Given the description of an element on the screen output the (x, y) to click on. 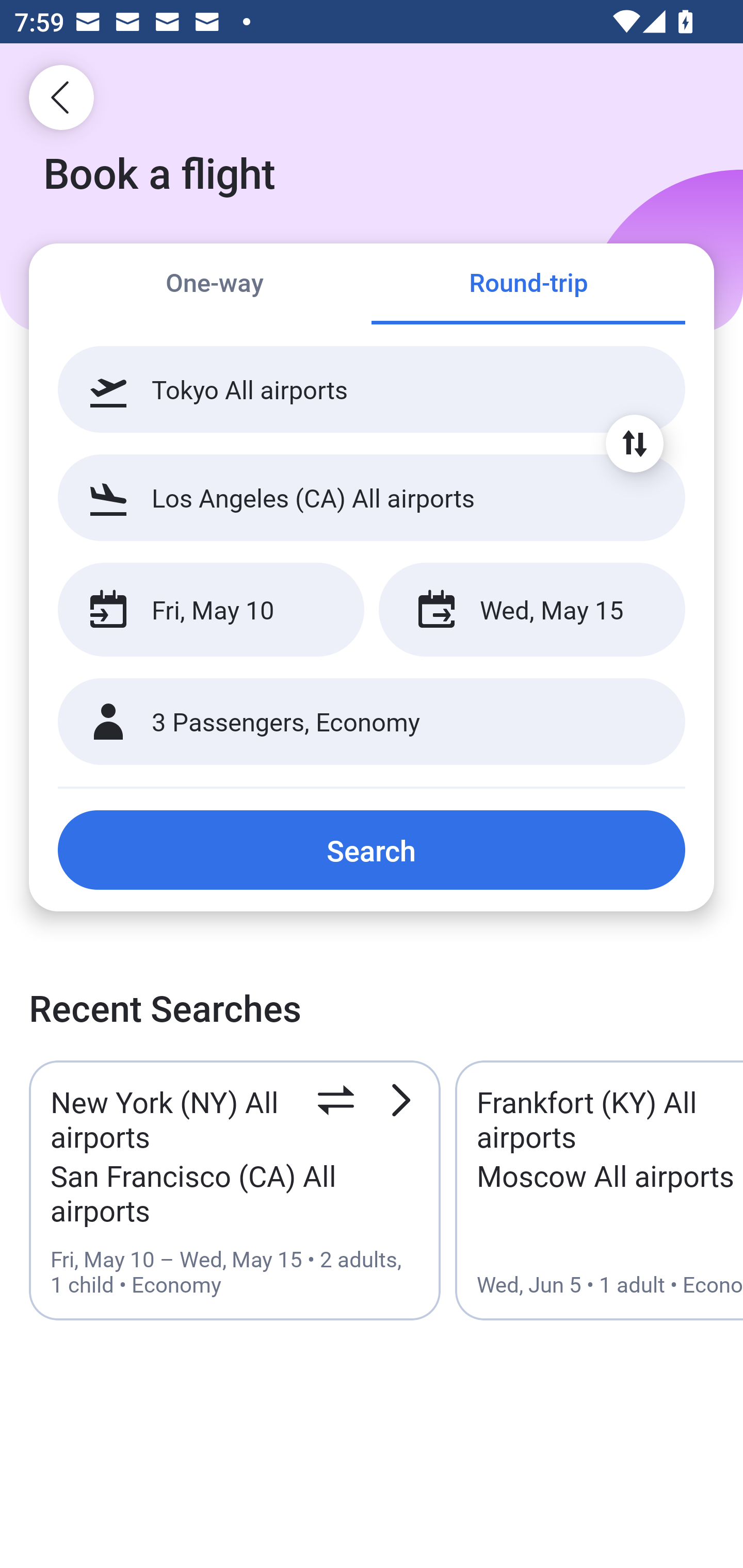
One-way (214, 284)
Tokyo All airports (371, 389)
Los Angeles (CA) All airports (371, 497)
Fri, May 10 (210, 609)
Wed, May 15 (531, 609)
3 Passengers, Economy (371, 721)
Search (371, 849)
